Given the description of an element on the screen output the (x, y) to click on. 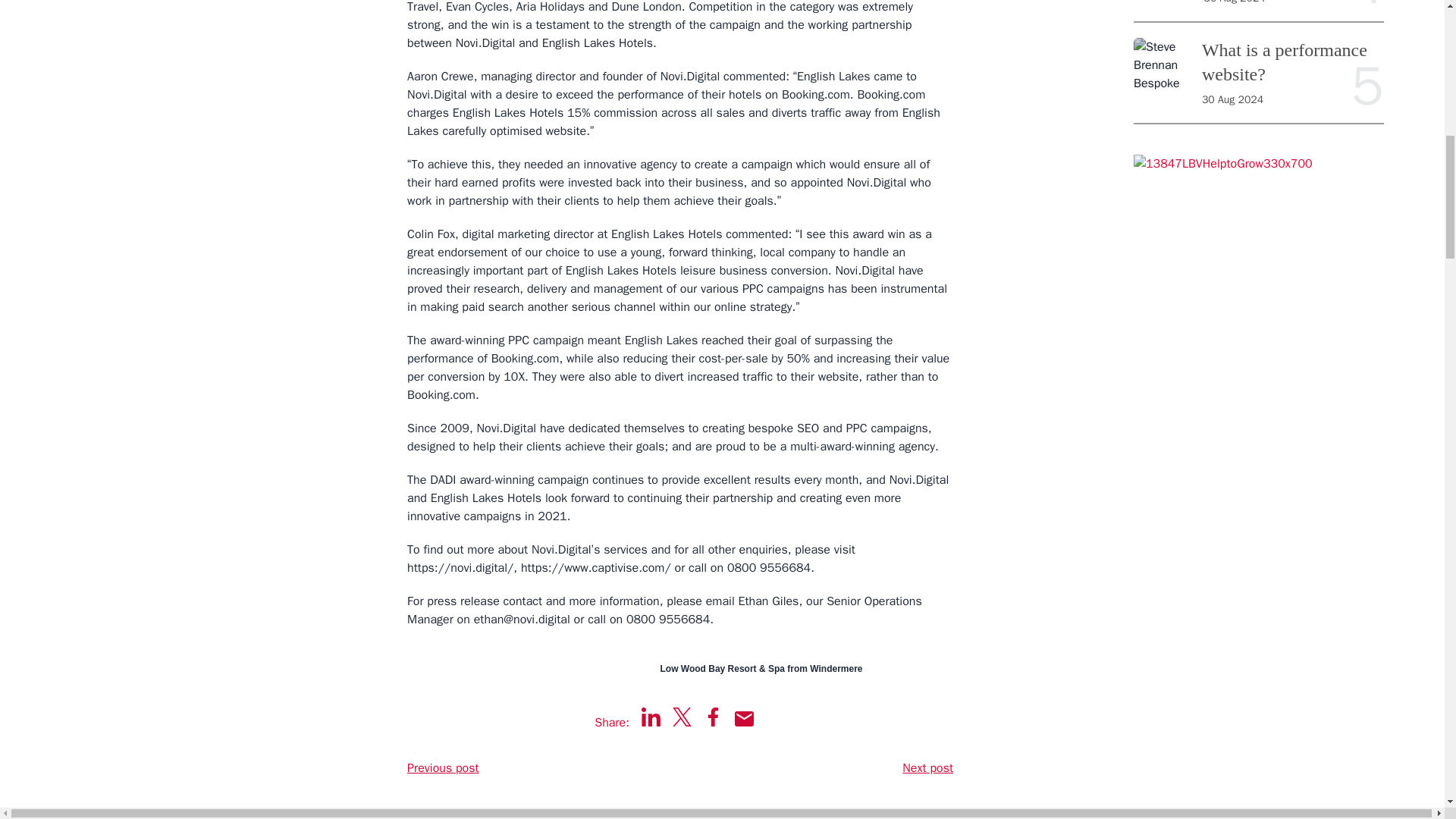
Share by Email (744, 718)
Share via Facebook (712, 716)
Share via LinkedIn (651, 716)
Share via Twitter (681, 716)
